Given the description of an element on the screen output the (x, y) to click on. 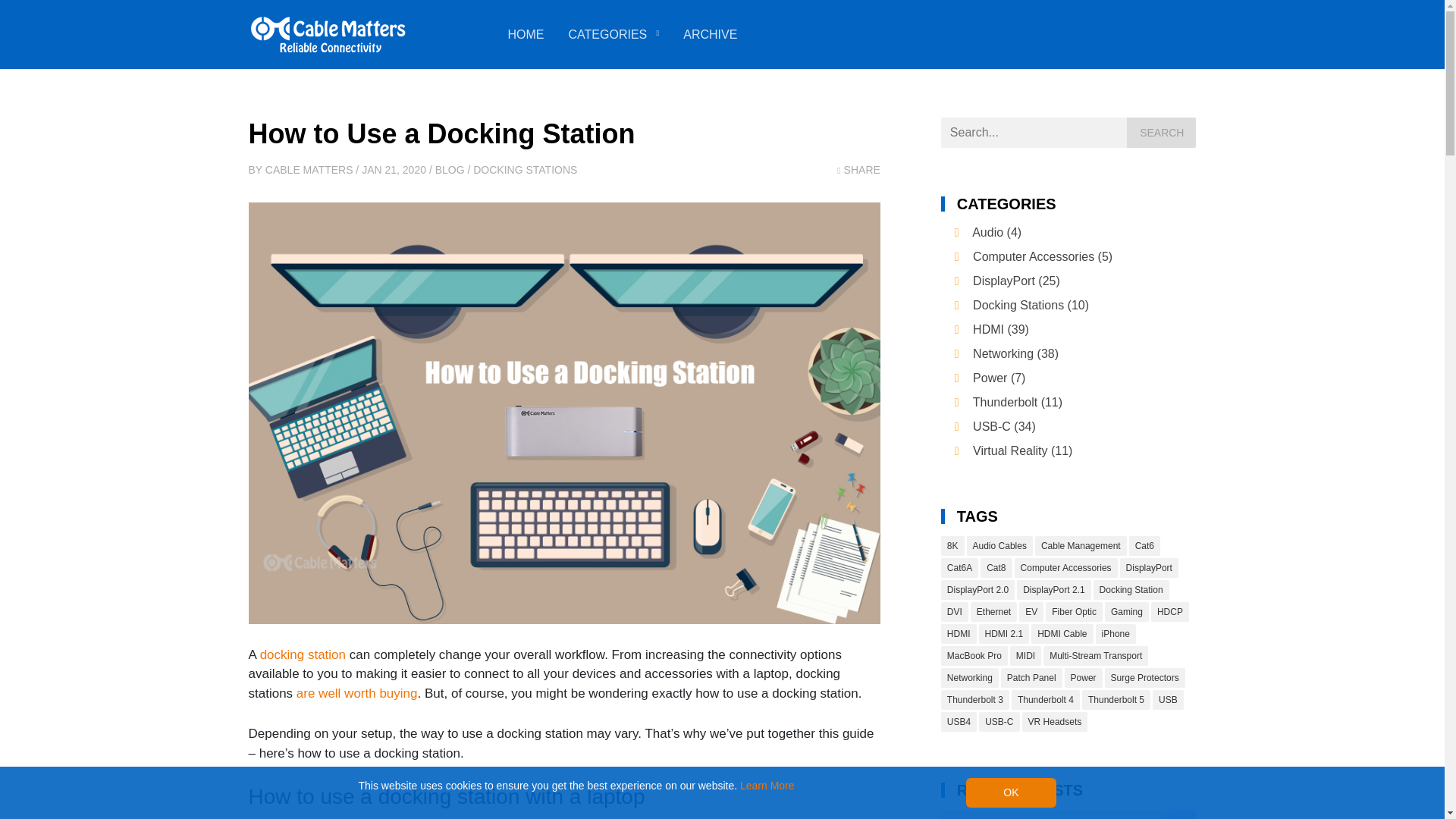
ARCHIVE (709, 34)
Category: Networking (1015, 353)
Category: Audio (997, 232)
Category: HDMI (1000, 328)
Category: DisplayPort (1015, 280)
BLOG (449, 169)
Search (1160, 132)
How to Use a Docking Station (441, 133)
docking station (303, 654)
DOCKING STATIONS (524, 169)
CATEGORIES (608, 34)
are well worth buying (357, 693)
Category: Docking Stations (1030, 305)
Category: Computer Accessories (1042, 256)
